Given the description of an element on the screen output the (x, y) to click on. 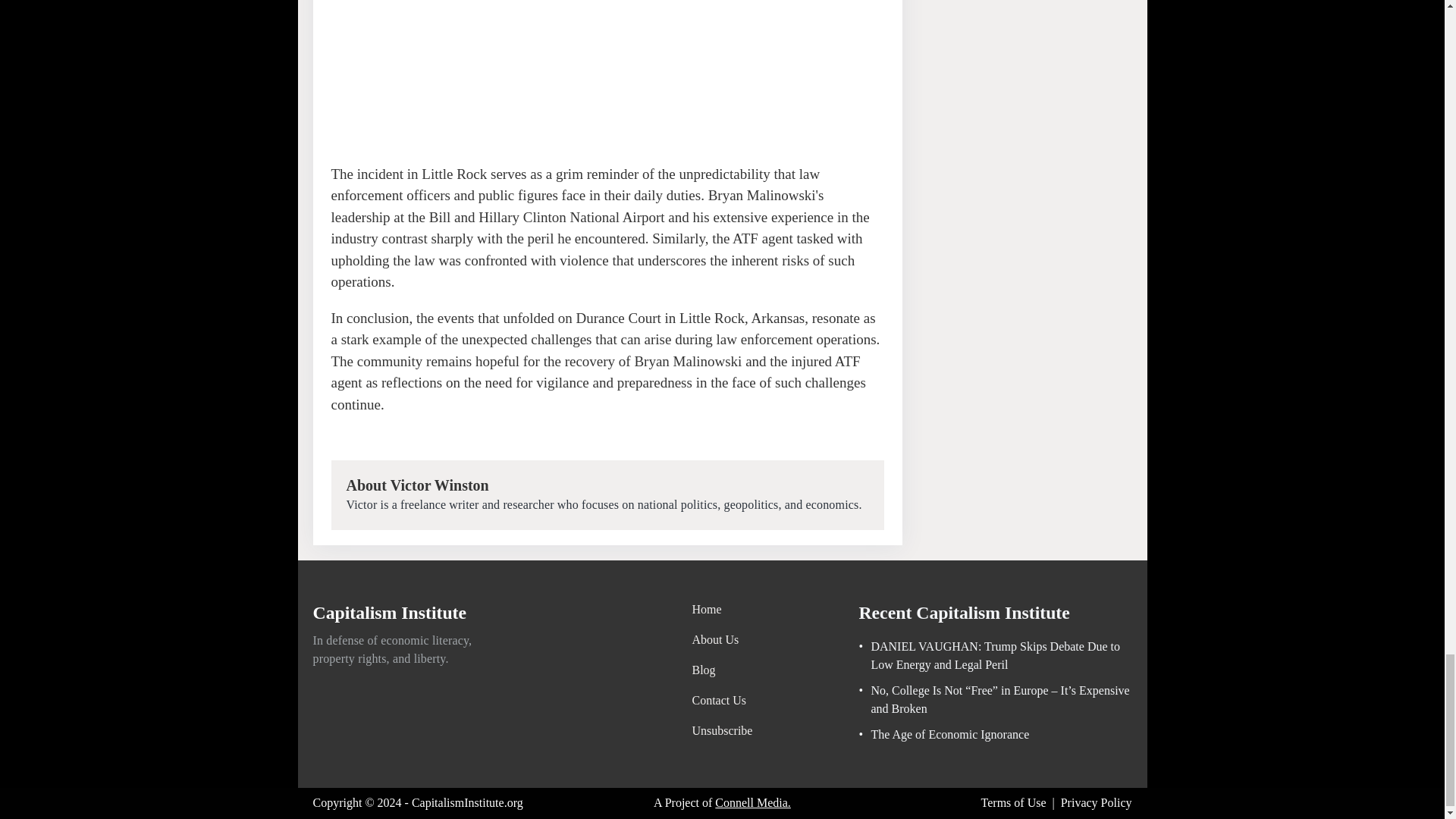
Connell Media. (752, 802)
About Us (721, 639)
Home (721, 609)
Contact Us (721, 700)
The Age of Economic Ignorance (944, 734)
Blog (721, 669)
Unsubscribe (721, 730)
Capitalism Institute (390, 615)
